Given the description of an element on the screen output the (x, y) to click on. 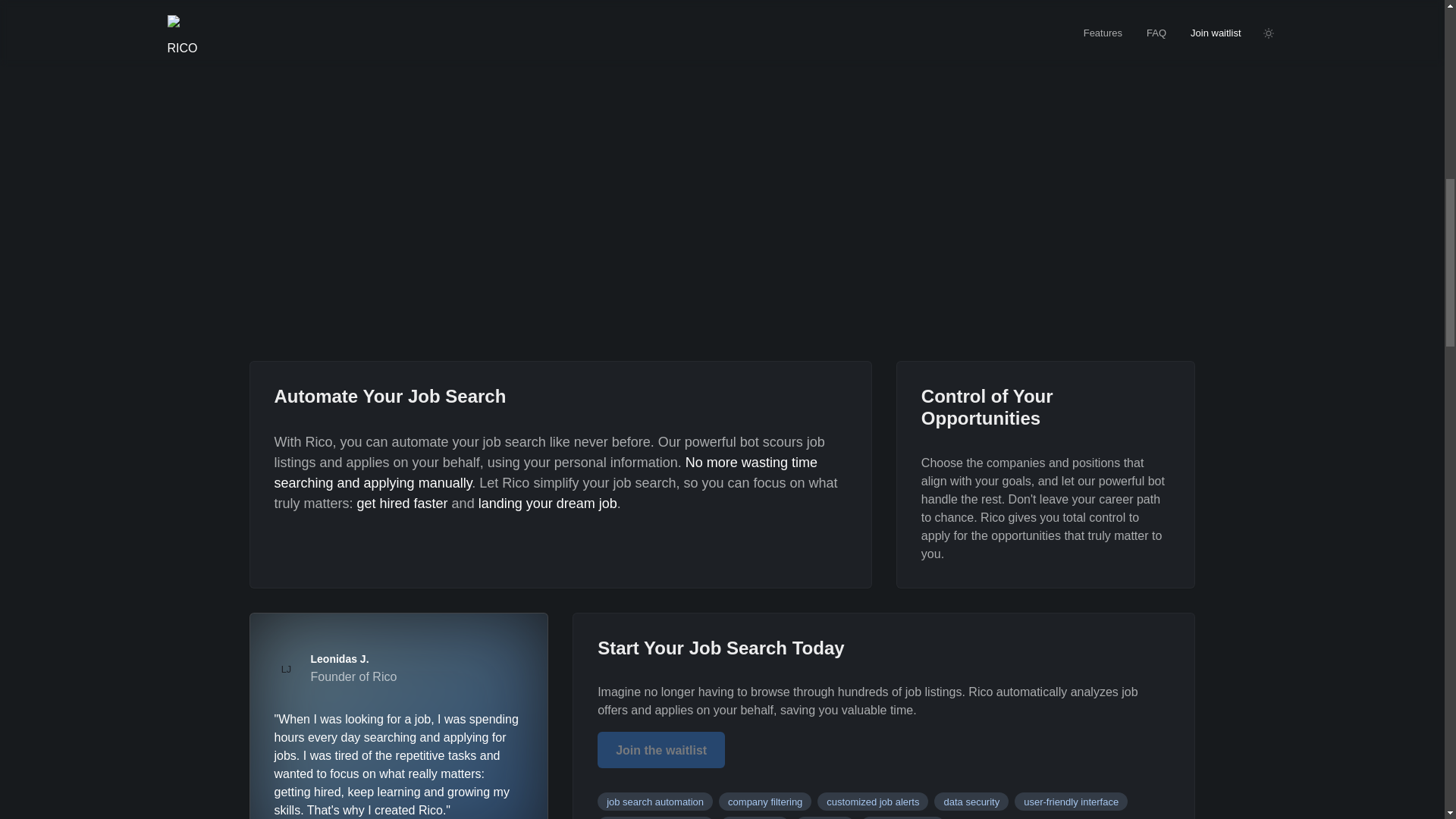
Join the waitlist (660, 750)
Join the waitlist (660, 743)
